Given the description of an element on the screen output the (x, y) to click on. 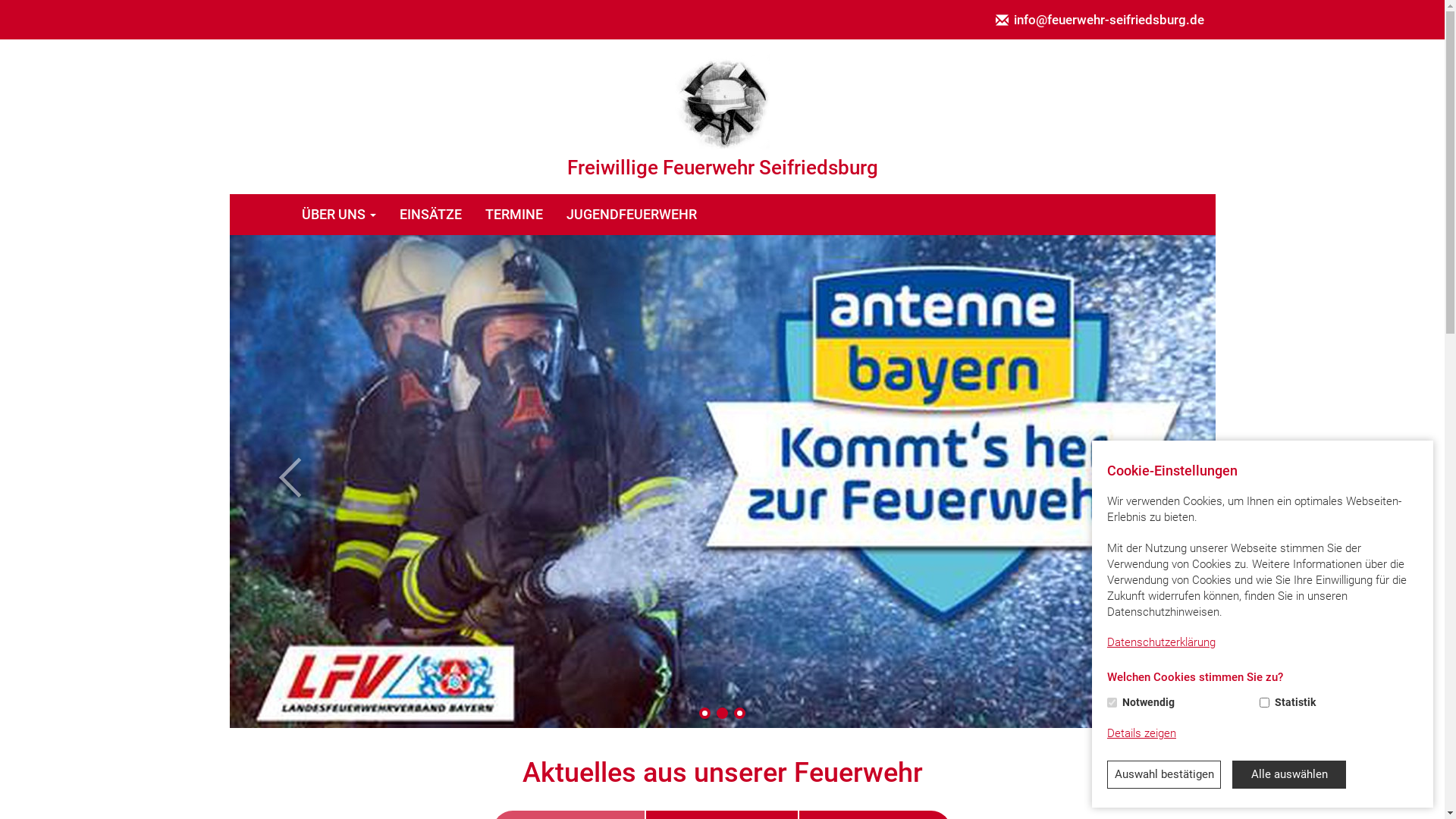
Freiwillige Feuerwehr Seifriedsburg Element type: text (721, 116)
Details zeigen Element type: text (1141, 733)
JUGENDFEUERWEHR Element type: text (632, 214)
Freiwillige Feuerwehr Seifriedsburg Element type: hover (721, 101)
TERMINE Element type: text (513, 214)
info@feuerwehr-seifriedsburg.de Element type: text (1099, 19)
